Given the description of an element on the screen output the (x, y) to click on. 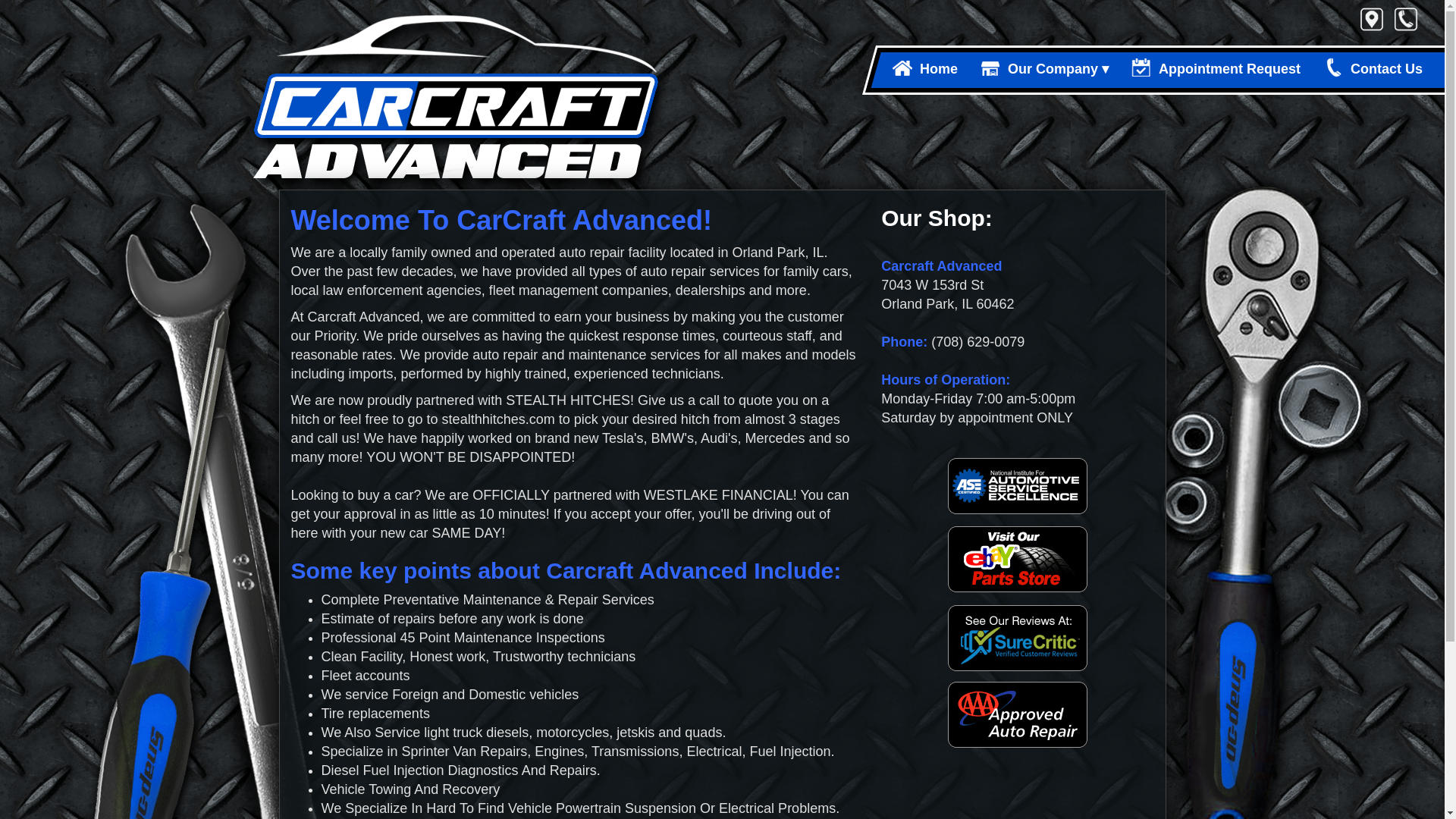
Appointment Request (1215, 69)
Contact Us (1371, 69)
Our Company (1043, 69)
Home (924, 69)
